Given the description of an element on the screen output the (x, y) to click on. 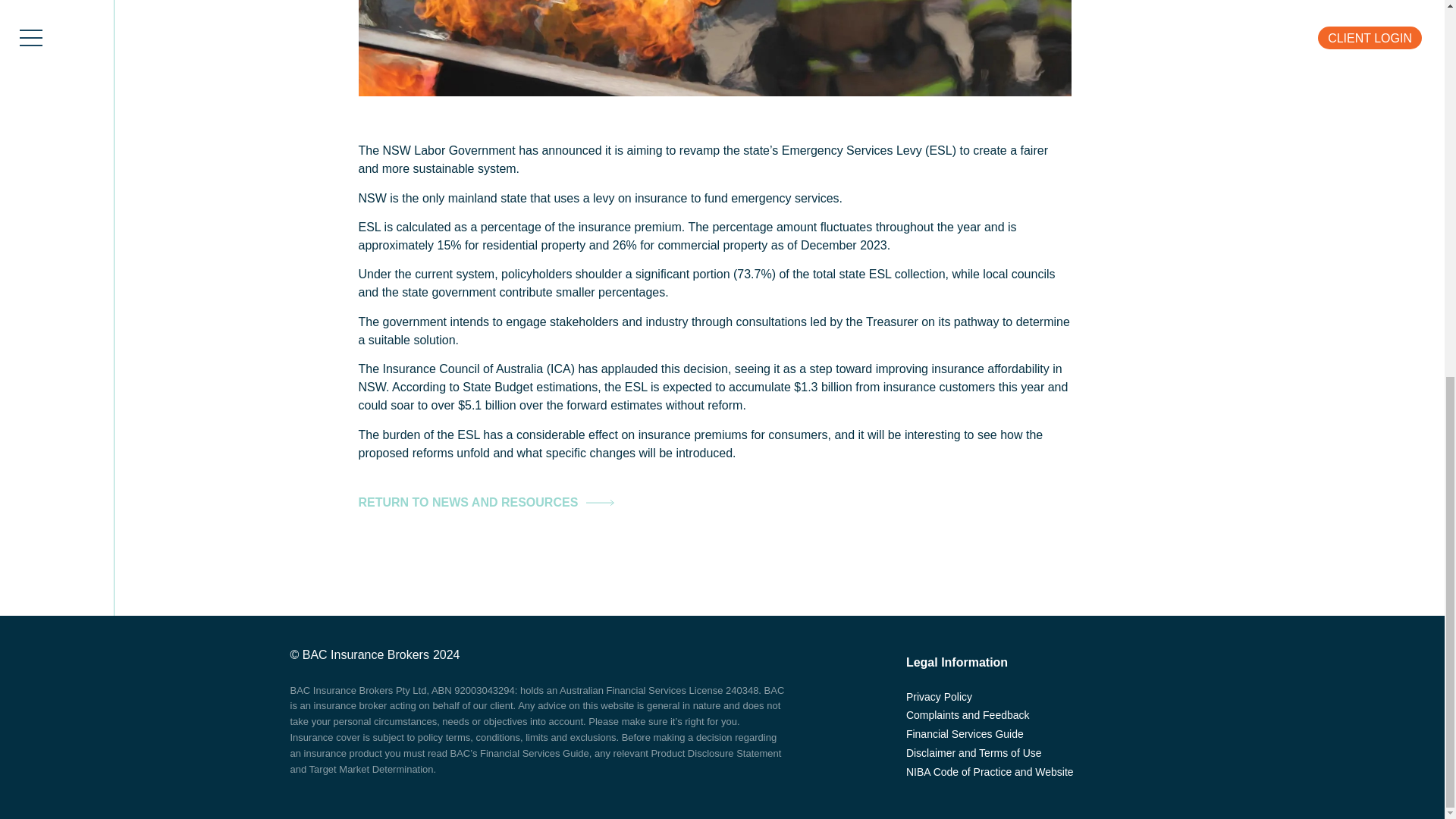
Financial Services Guide (989, 733)
Complaints and Feedback (989, 714)
Legal Information (1022, 662)
RETURN TO NEWS AND RESOURCES (486, 502)
NIBA Code of Practice and Website (989, 772)
Privacy Policy (989, 696)
Disclaimer and Terms of Use (989, 752)
